Given the description of an element on the screen output the (x, y) to click on. 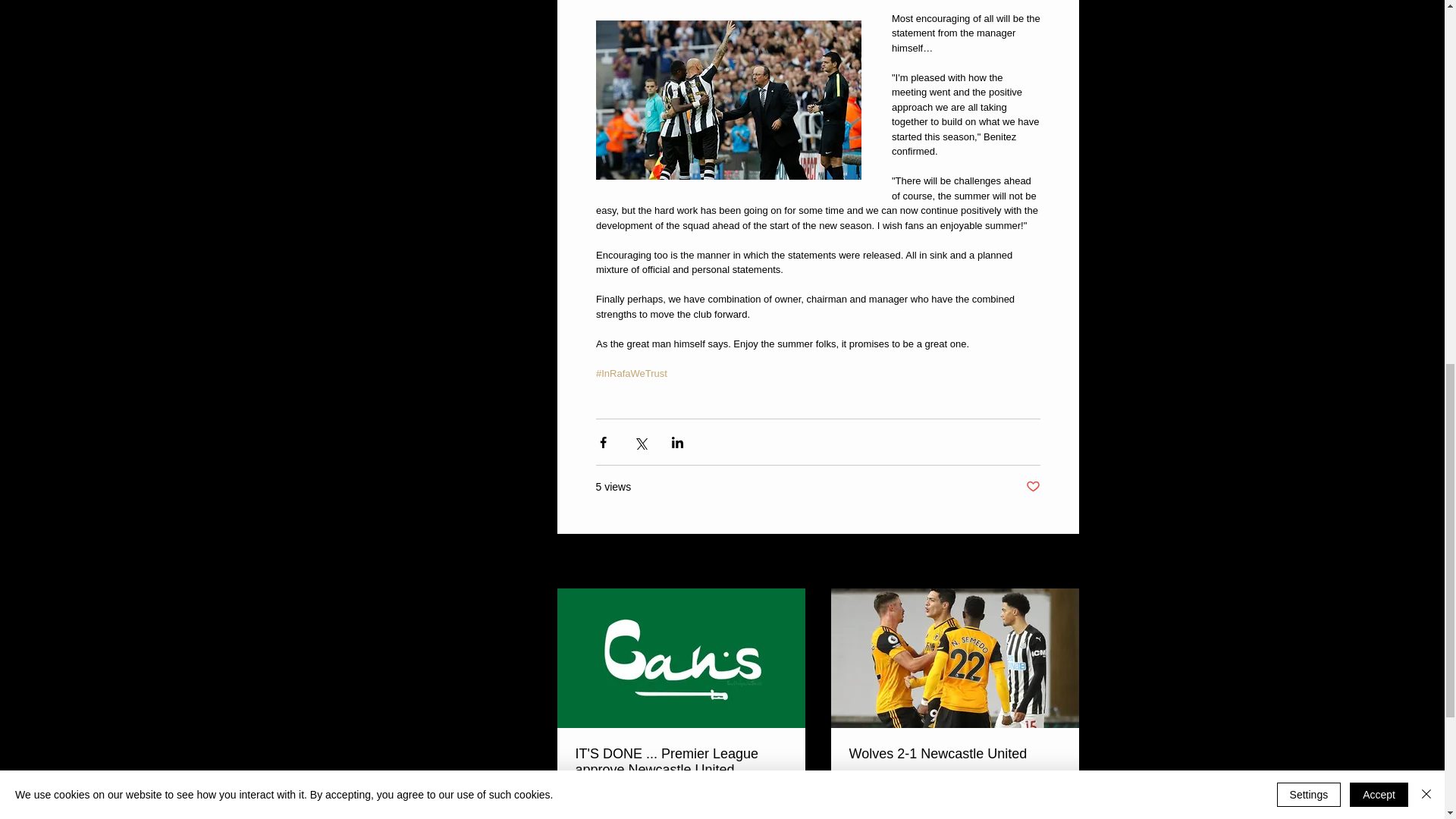
Post not marked as liked (1053, 812)
Post not marked as liked (1032, 487)
Wolves 2-1 Newcastle United (954, 754)
See All (1061, 562)
